Given the description of an element on the screen output the (x, y) to click on. 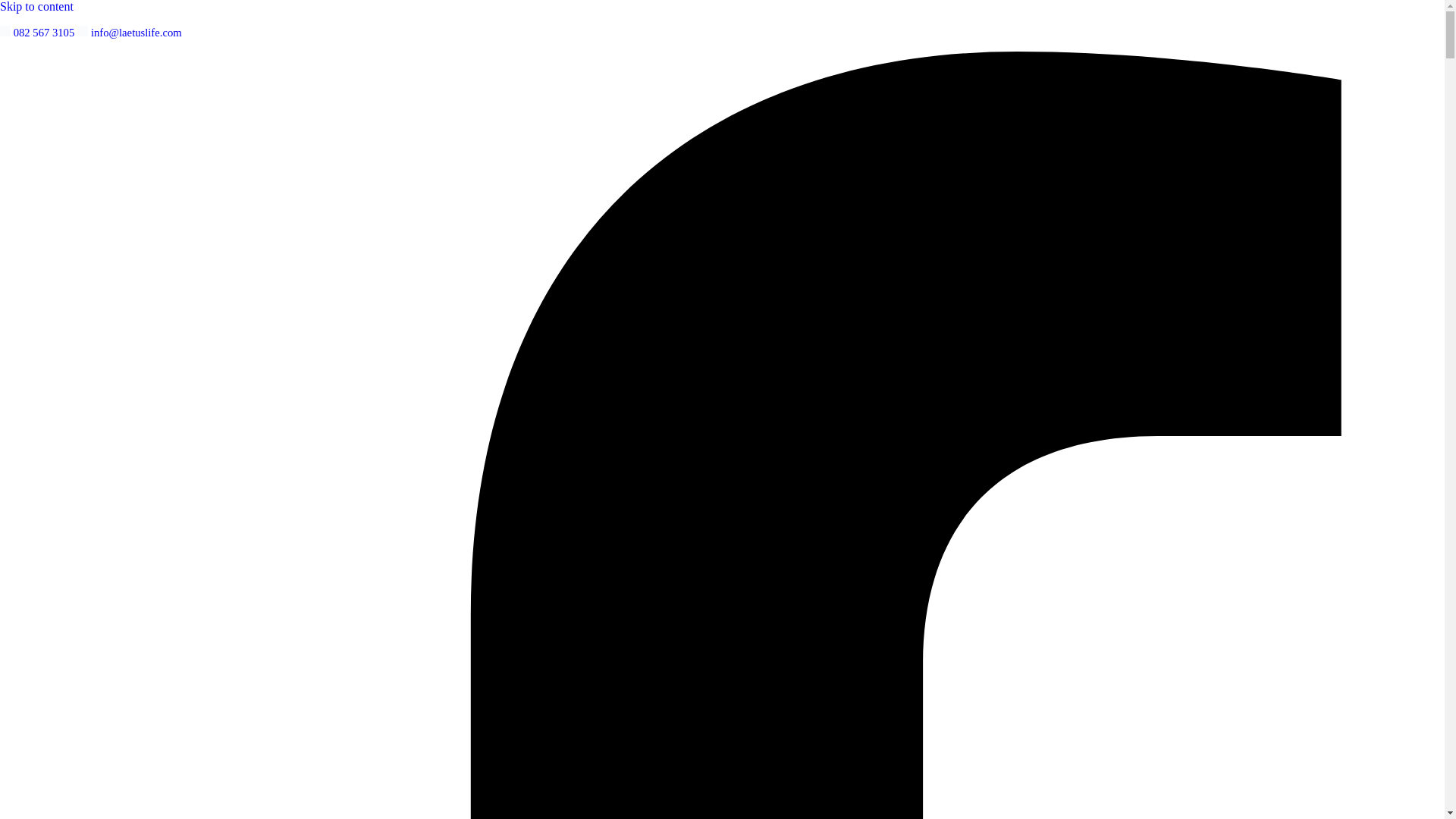
Skip to content (37, 6)
Skip to content (37, 6)
082 567 3105 (43, 31)
